Given the description of an element on the screen output the (x, y) to click on. 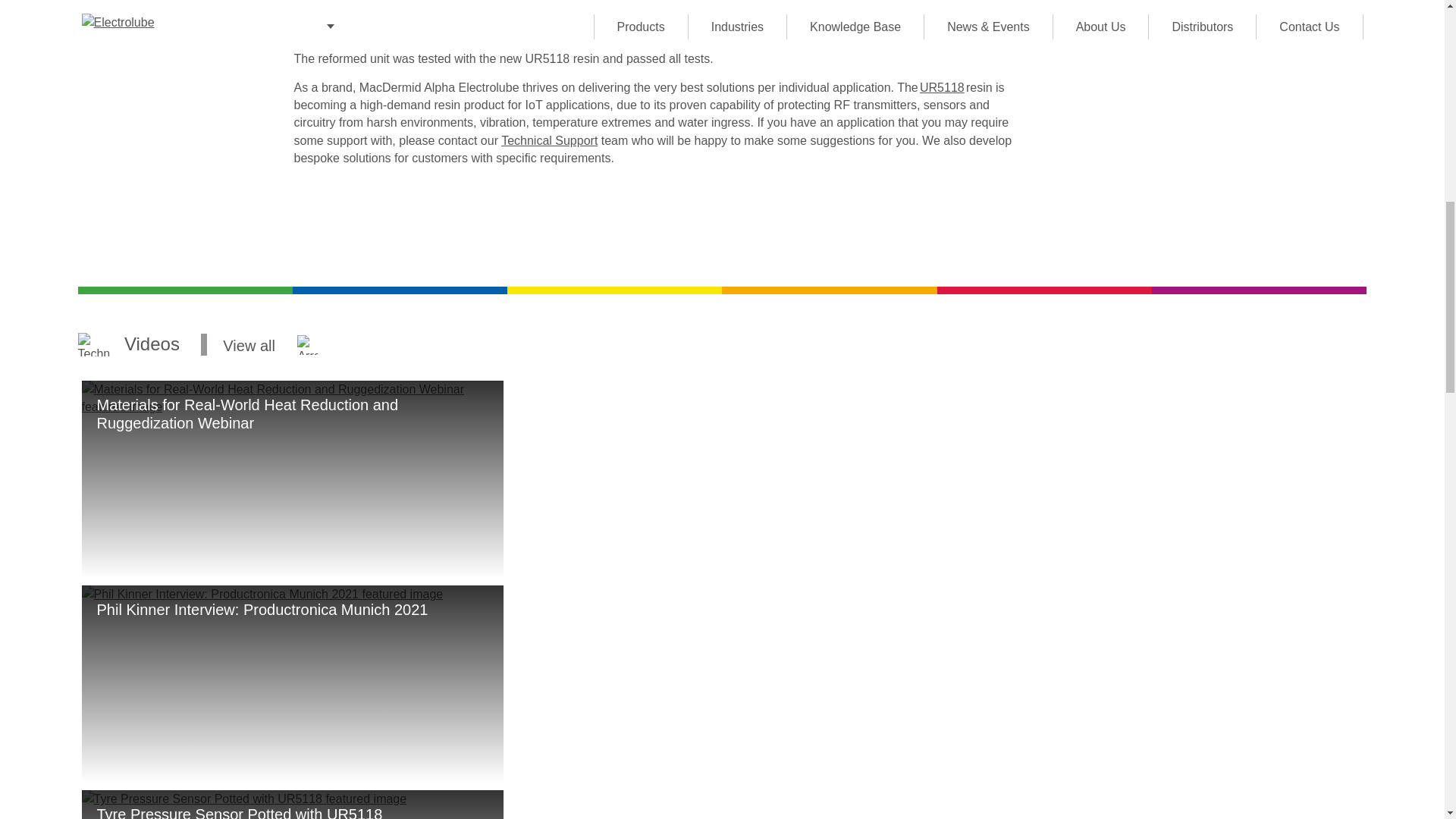
view Phil Kinner Interview: Productronica Munich 2021 (292, 683)
View all videos (722, 344)
